Given the description of an element on the screen output the (x, y) to click on. 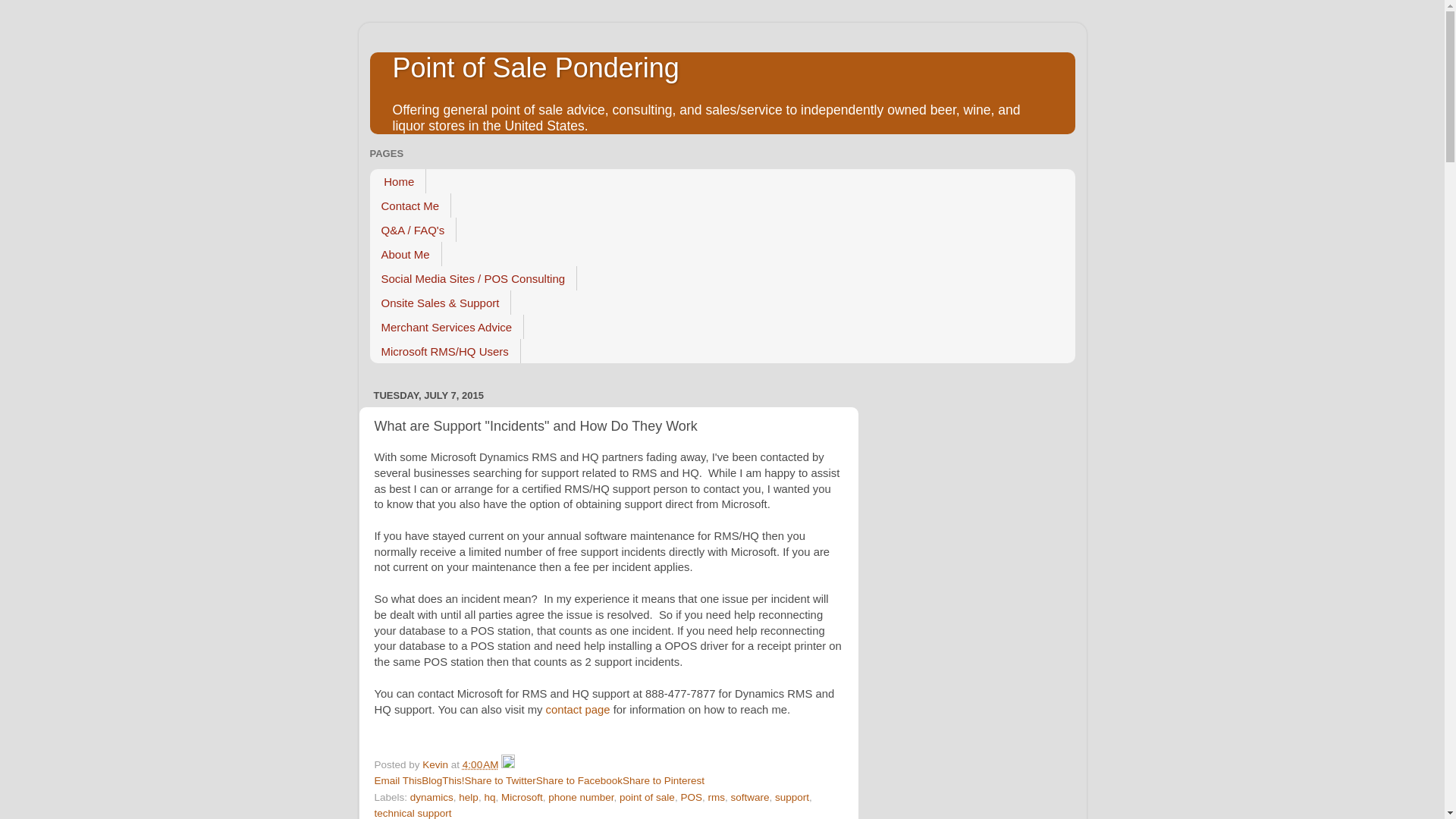
dynamics (431, 797)
Share to Pinterest (663, 780)
About Me (405, 253)
Share to Pinterest (663, 780)
hq (489, 797)
Point of Sale Pondering (536, 67)
Contact Me (410, 205)
permanent link (481, 764)
Share to Twitter (499, 780)
Edit Post (507, 764)
BlogThis! (443, 780)
phone number (580, 797)
help (468, 797)
point of sale (647, 797)
